Given the description of an element on the screen output the (x, y) to click on. 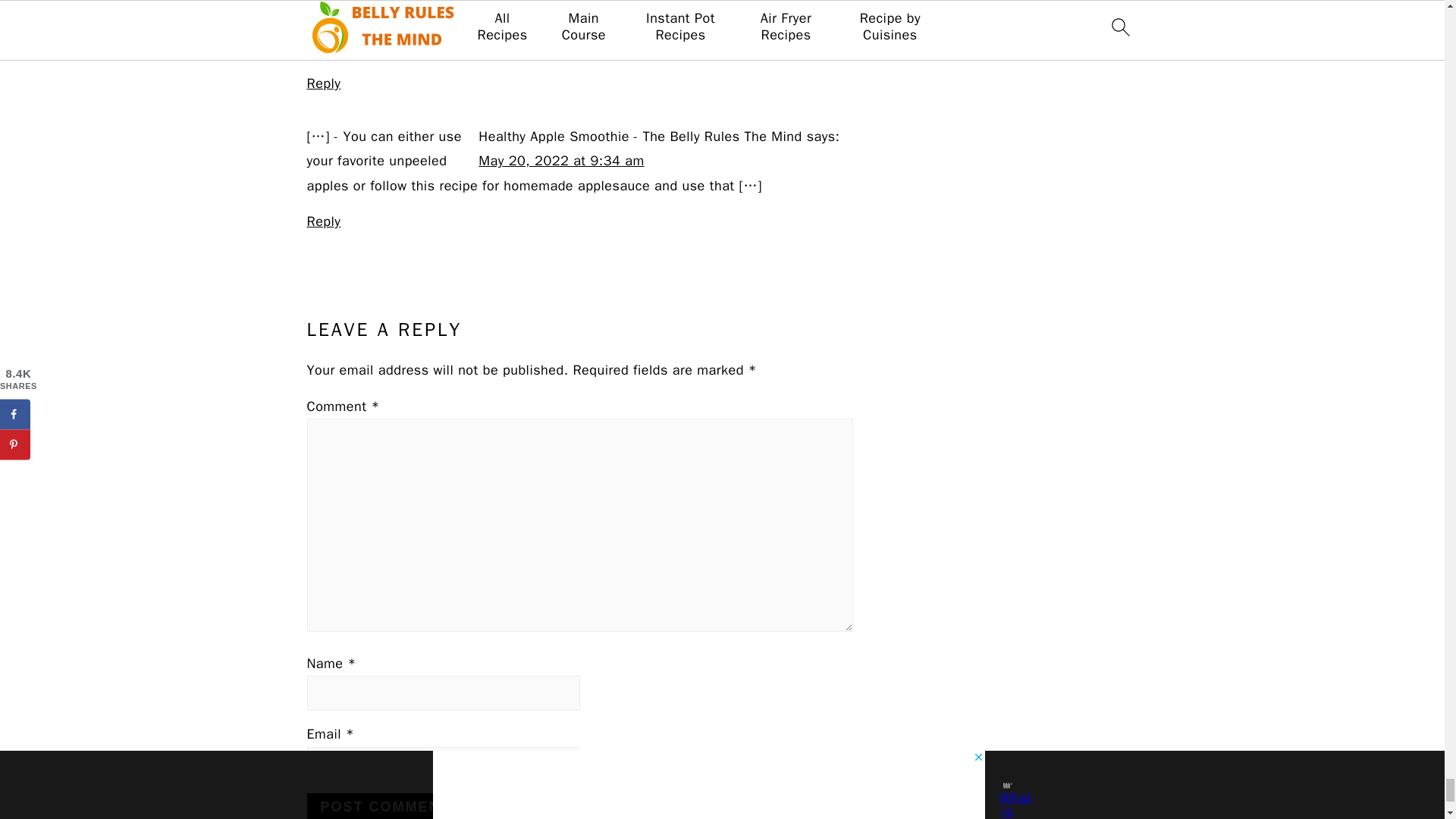
Post Comment (384, 806)
